Given the description of an element on the screen output the (x, y) to click on. 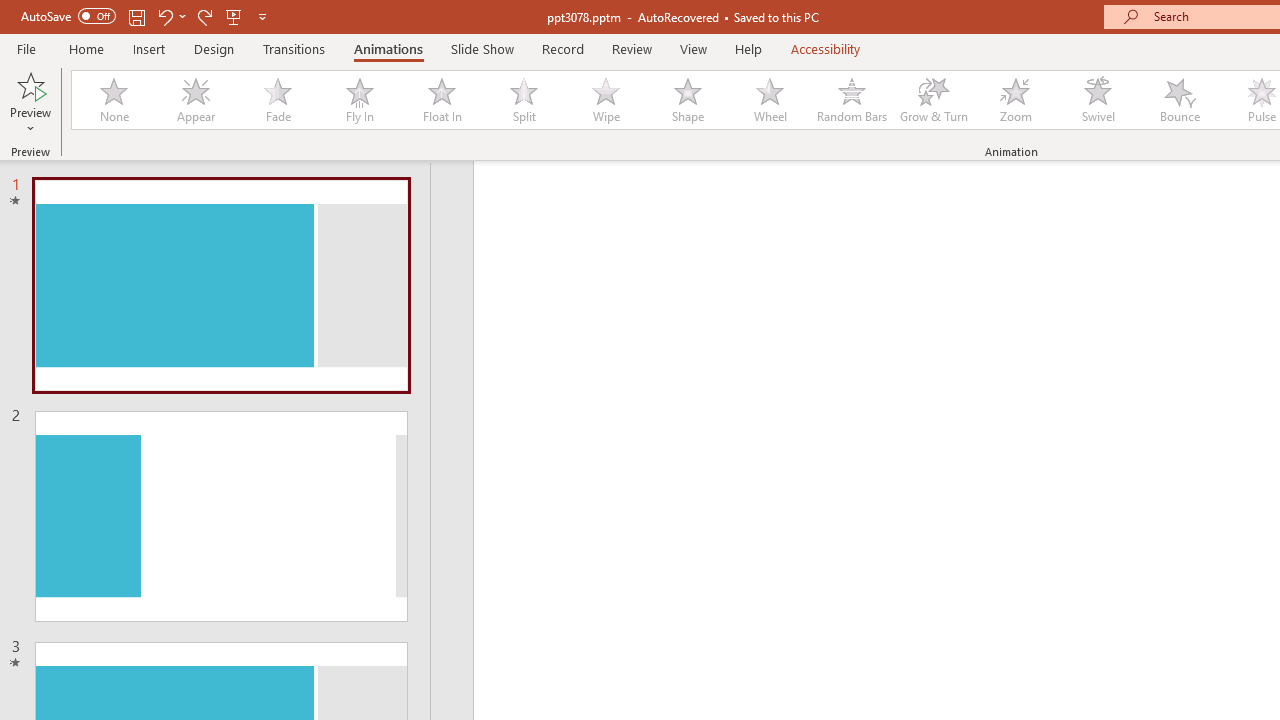
Grow & Turn (934, 100)
Shape (687, 100)
Appear (195, 100)
Bounce (1180, 100)
None (113, 100)
